Given the description of an element on the screen output the (x, y) to click on. 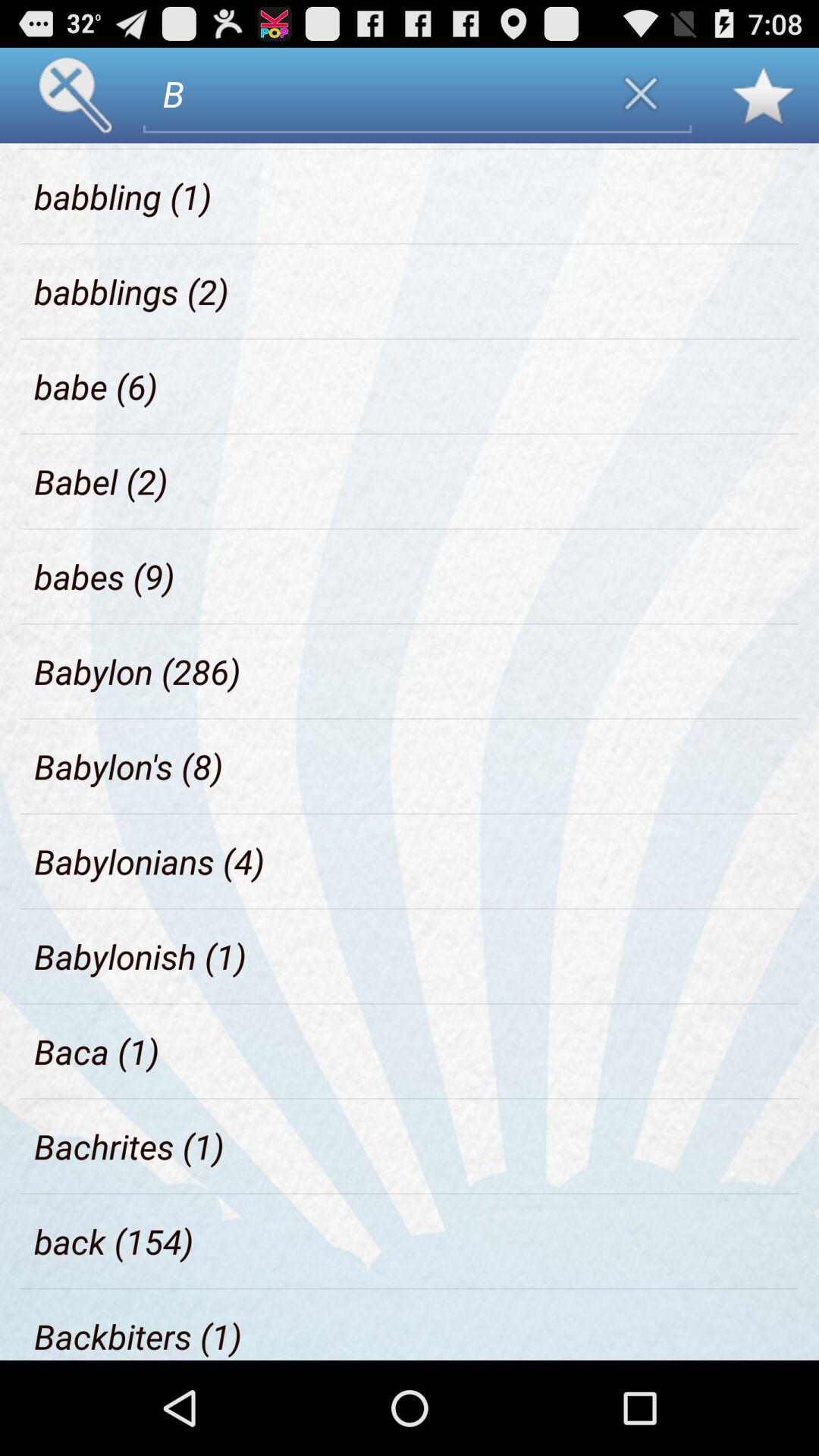
flip to the b (369, 93)
